Given the description of an element on the screen output the (x, y) to click on. 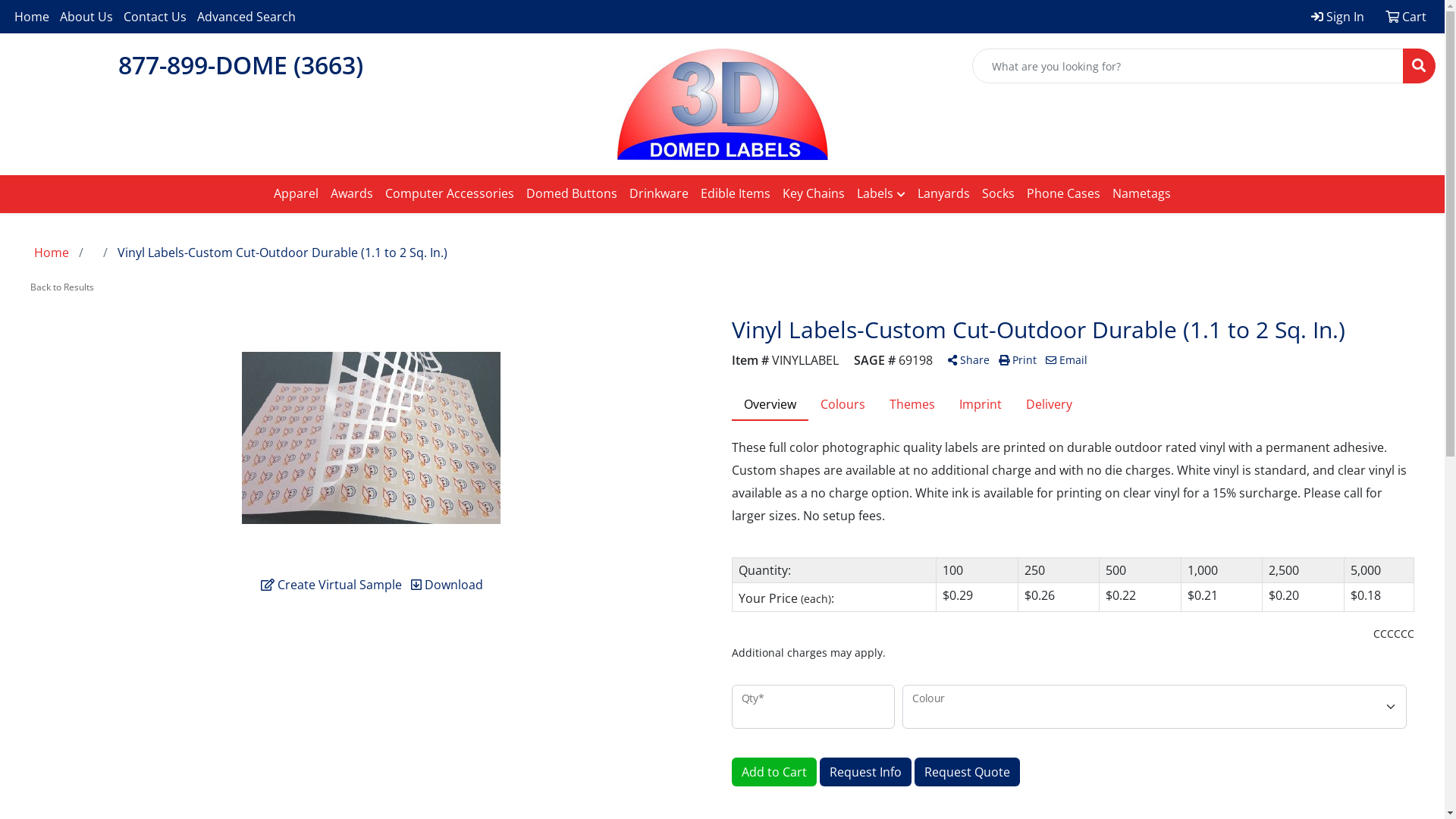
Edible Items Element type: text (735, 193)
Phone Cases Element type: text (1063, 193)
Socks Element type: text (997, 193)
Awards Element type: text (351, 193)
Advanced Search Element type: text (246, 16)
About Us Element type: text (86, 16)
Home Element type: text (31, 16)
877-899-DOME (3663) Element type: text (240, 64)
Cart Element type: text (1405, 16)
Nametags Element type: text (1141, 193)
Contact Us Element type: text (154, 16)
Lanyards Element type: text (943, 193)
Computer Accessories Element type: text (449, 193)
Sign In Element type: text (1337, 16)
Domed Buttons Element type: text (571, 193)
Drinkware Element type: text (658, 193)
Apparel Element type: text (295, 193)
Key Chains Element type: text (813, 193)
Labels Element type: text (880, 194)
